Given the description of an element on the screen output the (x, y) to click on. 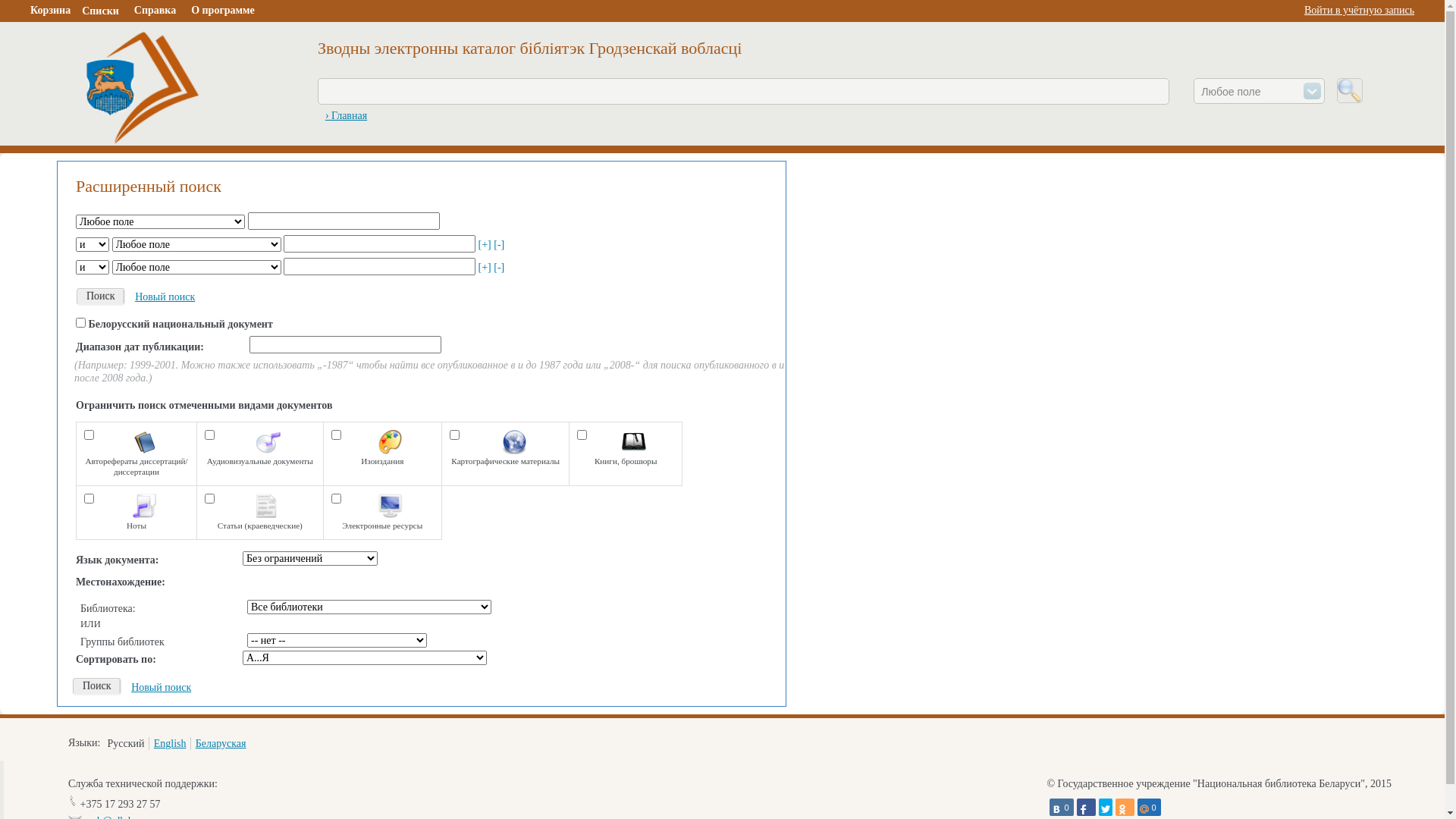
English Element type: text (169, 743)
0 Element type: text (1061, 806)
[-] Element type: text (498, 267)
[-] Element type: text (498, 244)
Facebook Element type: hover (1085, 806)
[+] Element type: text (483, 244)
0 Element type: text (1149, 806)
[+] Element type: text (483, 267)
Twitter Element type: hover (1104, 806)
Odnoklassniki Element type: hover (1123, 806)
